Given the description of an element on the screen output the (x, y) to click on. 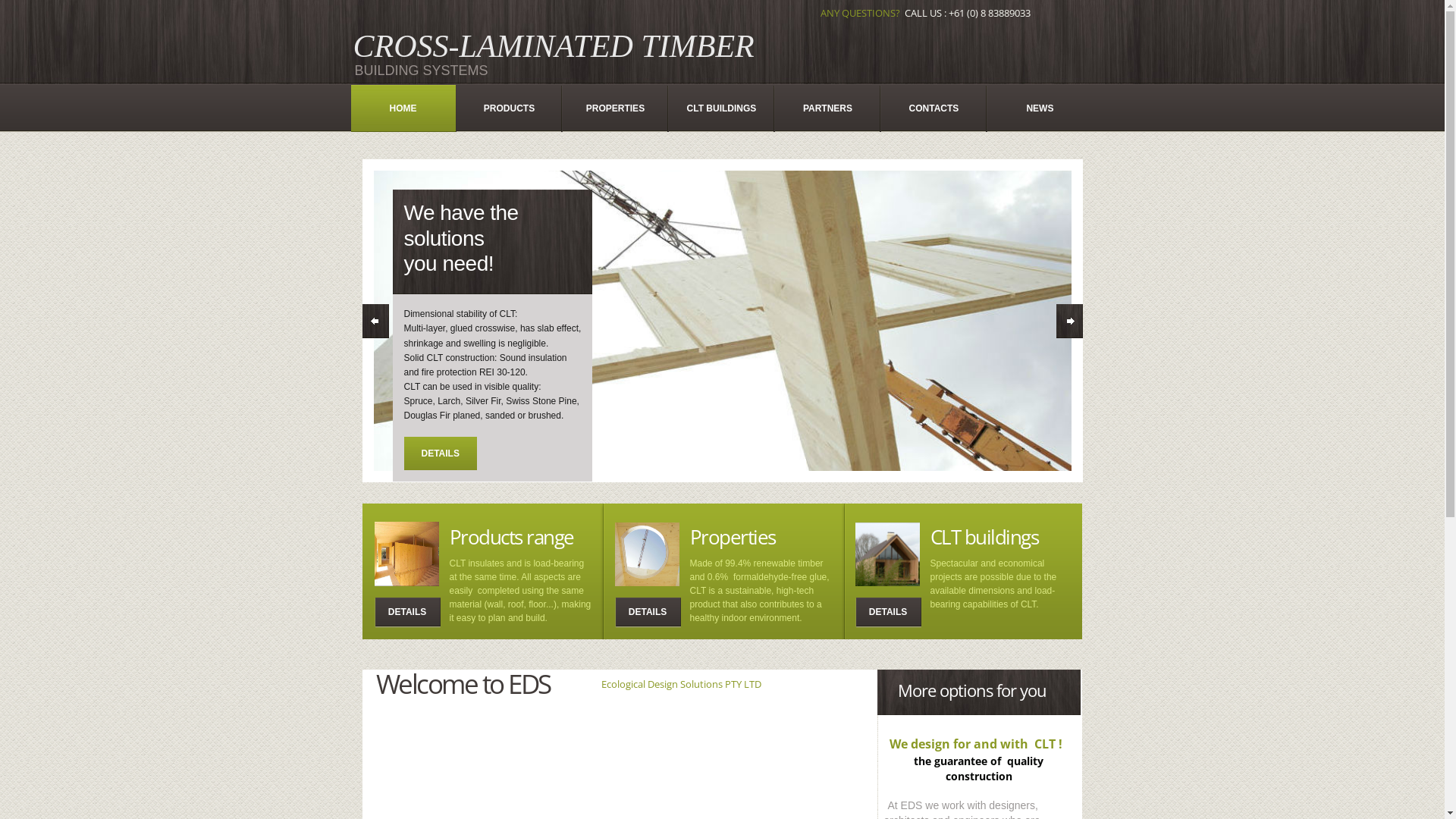
PARTNERS Element type: text (827, 107)
PRODUCTS Element type: text (508, 107)
PROPERTIES Element type: text (614, 107)
DETAILS Element type: text (647, 612)
CLT BUILDINGS Element type: text (720, 107)
CONTACTS Element type: text (933, 107)
DETAILS Element type: text (407, 612)
DETAILS Element type: text (888, 612)
DETAILS Element type: text (439, 453)
NEWS Element type: text (1039, 107)
HOME Element type: text (402, 107)
CLT family home 2 Element type: hover (887, 554)
